Given the description of an element on the screen output the (x, y) to click on. 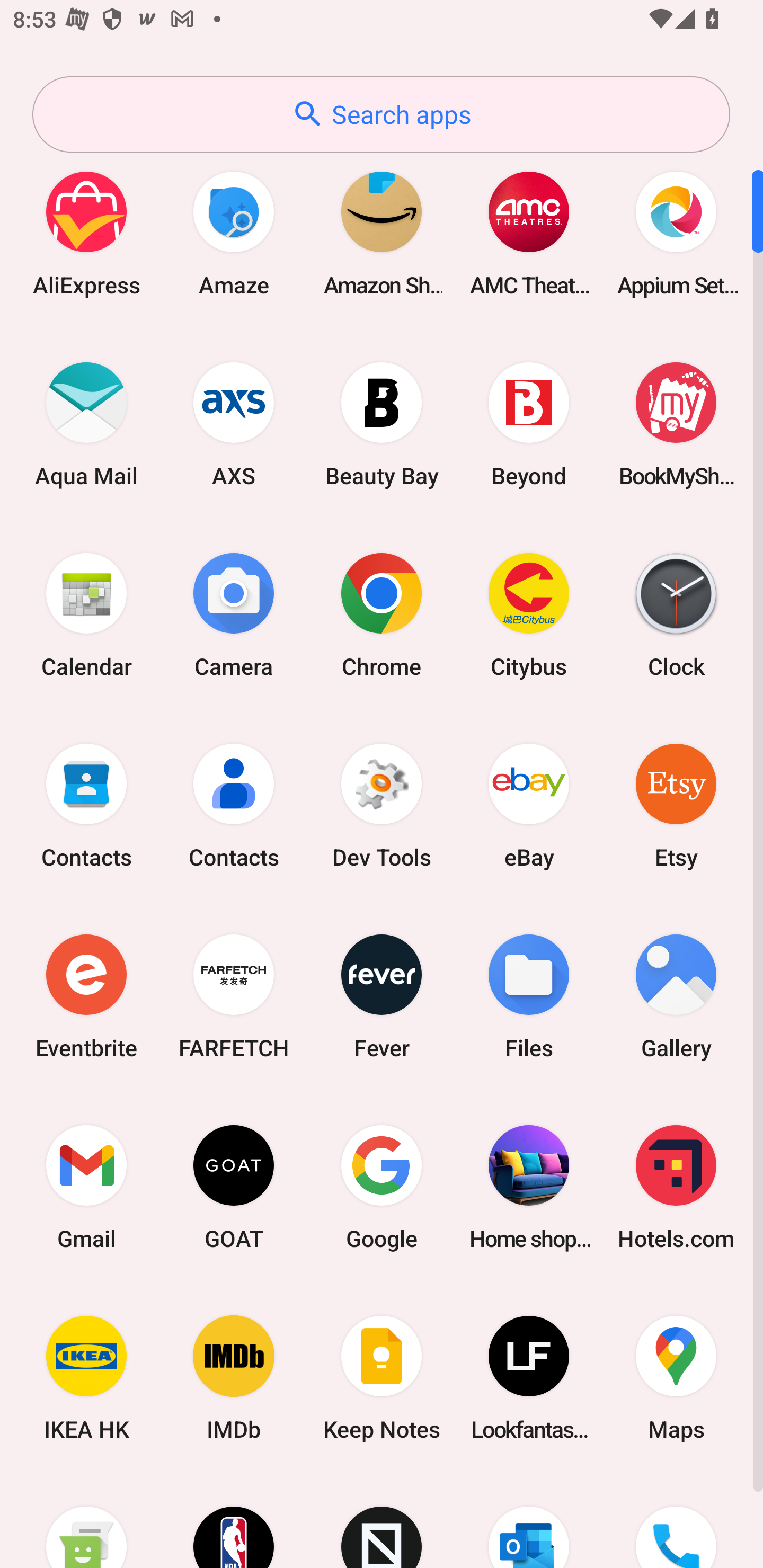
  Search apps (381, 114)
AliExpress (86, 233)
Amaze (233, 233)
Amazon Shopping (381, 233)
AMC Theatres (528, 233)
Appium Settings (676, 233)
Aqua Mail (86, 424)
AXS (233, 424)
Beauty Bay (381, 424)
Beyond (528, 424)
BookMyShow (676, 424)
Calendar (86, 614)
Camera (233, 614)
Chrome (381, 614)
Citybus (528, 614)
Clock (676, 614)
Contacts (86, 805)
Contacts (233, 805)
Dev Tools (381, 805)
eBay (528, 805)
Etsy (676, 805)
Eventbrite (86, 996)
FARFETCH (233, 996)
Fever (381, 996)
Files (528, 996)
Gallery (676, 996)
Gmail (86, 1186)
GOAT (233, 1186)
Google (381, 1186)
Home shopping (528, 1186)
Hotels.com (676, 1186)
IKEA HK (86, 1377)
IMDb (233, 1377)
Keep Notes (381, 1377)
Lookfantastic (528, 1377)
Maps (676, 1377)
